Given the description of an element on the screen output the (x, y) to click on. 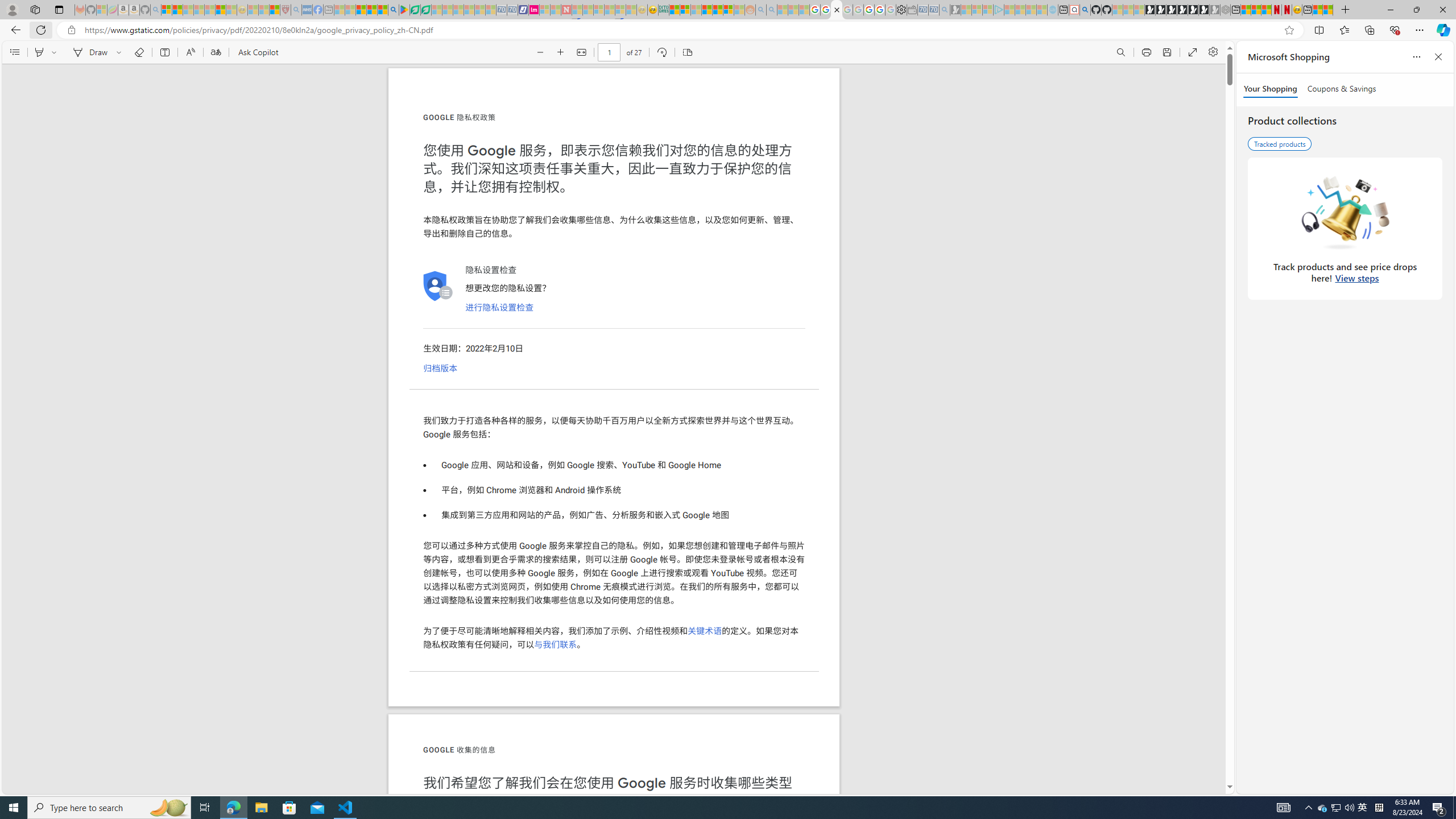
Microsoft Start Gaming - Sleeping (954, 9)
github - Search (1084, 9)
Wildlife - MSN (1317, 9)
NCL Adult Asthma Inhaler Choice Guideline - Sleeping (307, 9)
google_privacy_policy_zh-CN.pdf (837, 9)
